Given the description of an element on the screen output the (x, y) to click on. 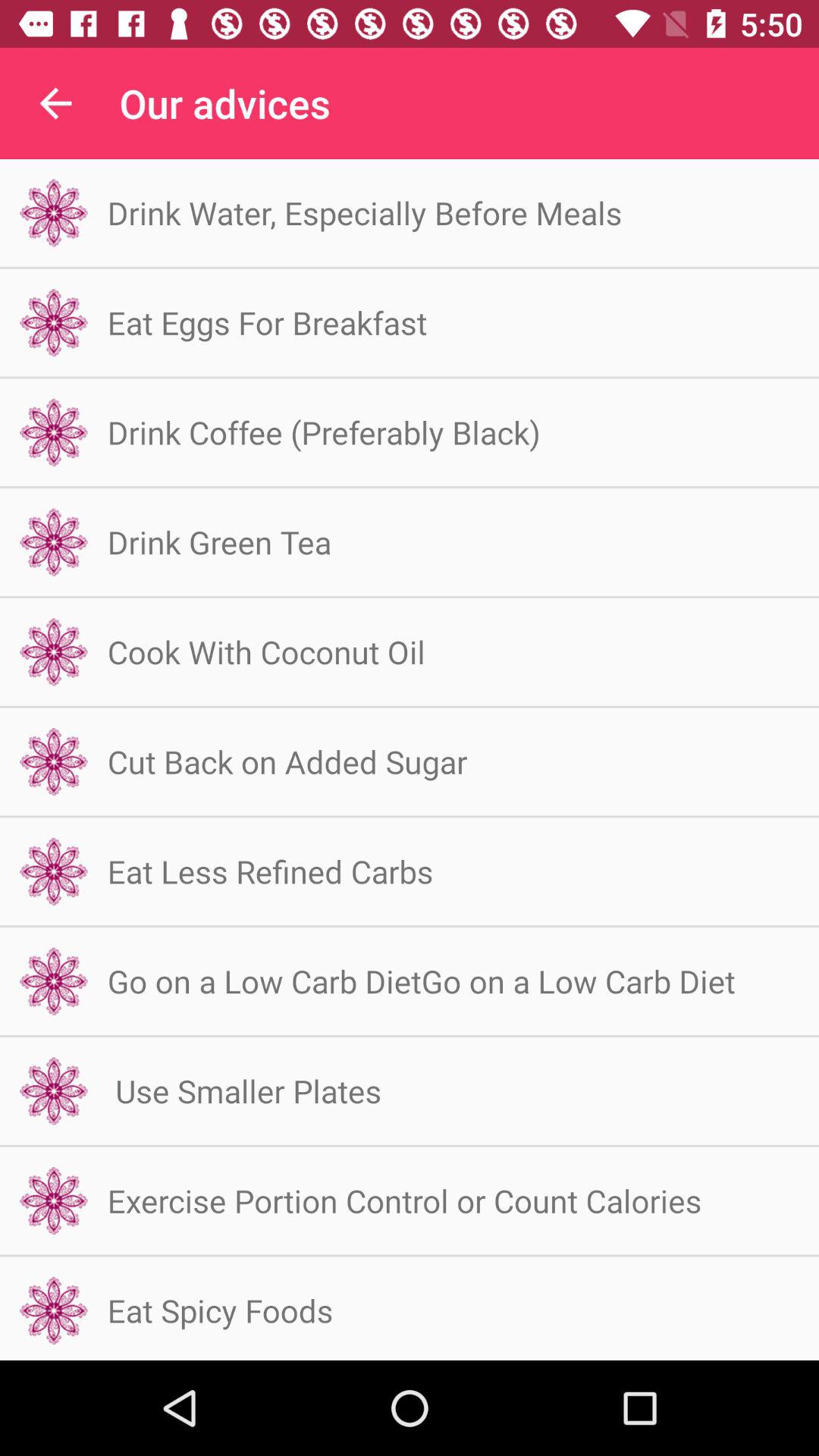
open the icon above go on a item (270, 870)
